Given the description of an element on the screen output the (x, y) to click on. 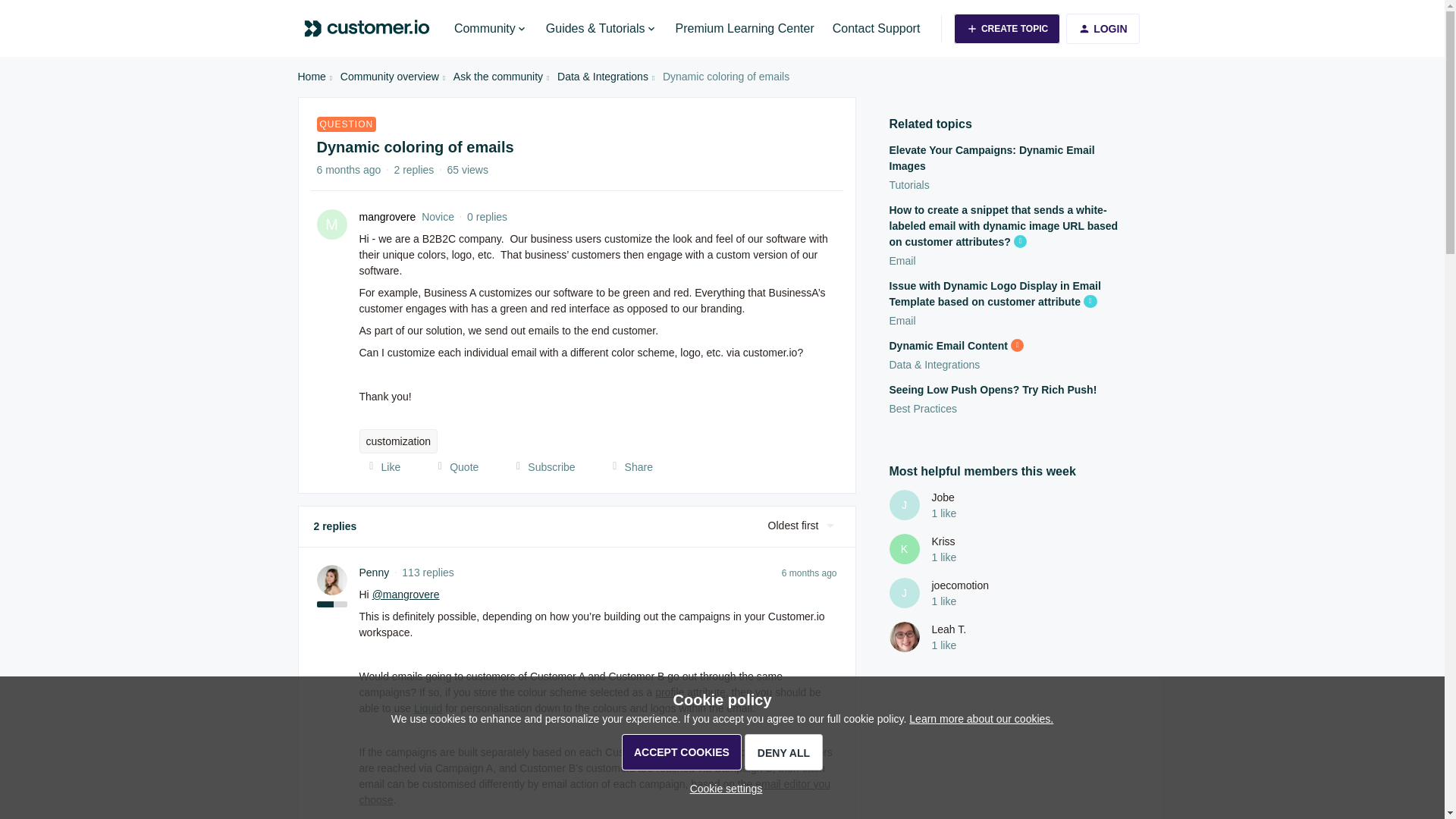
Home (310, 76)
LOGIN (1101, 28)
Community (490, 28)
Ask the community (497, 76)
Contact Support (876, 28)
Premium Learning Center (744, 28)
Community overview (389, 76)
CREATE TOPIC (1006, 28)
